Given the description of an element on the screen output the (x, y) to click on. 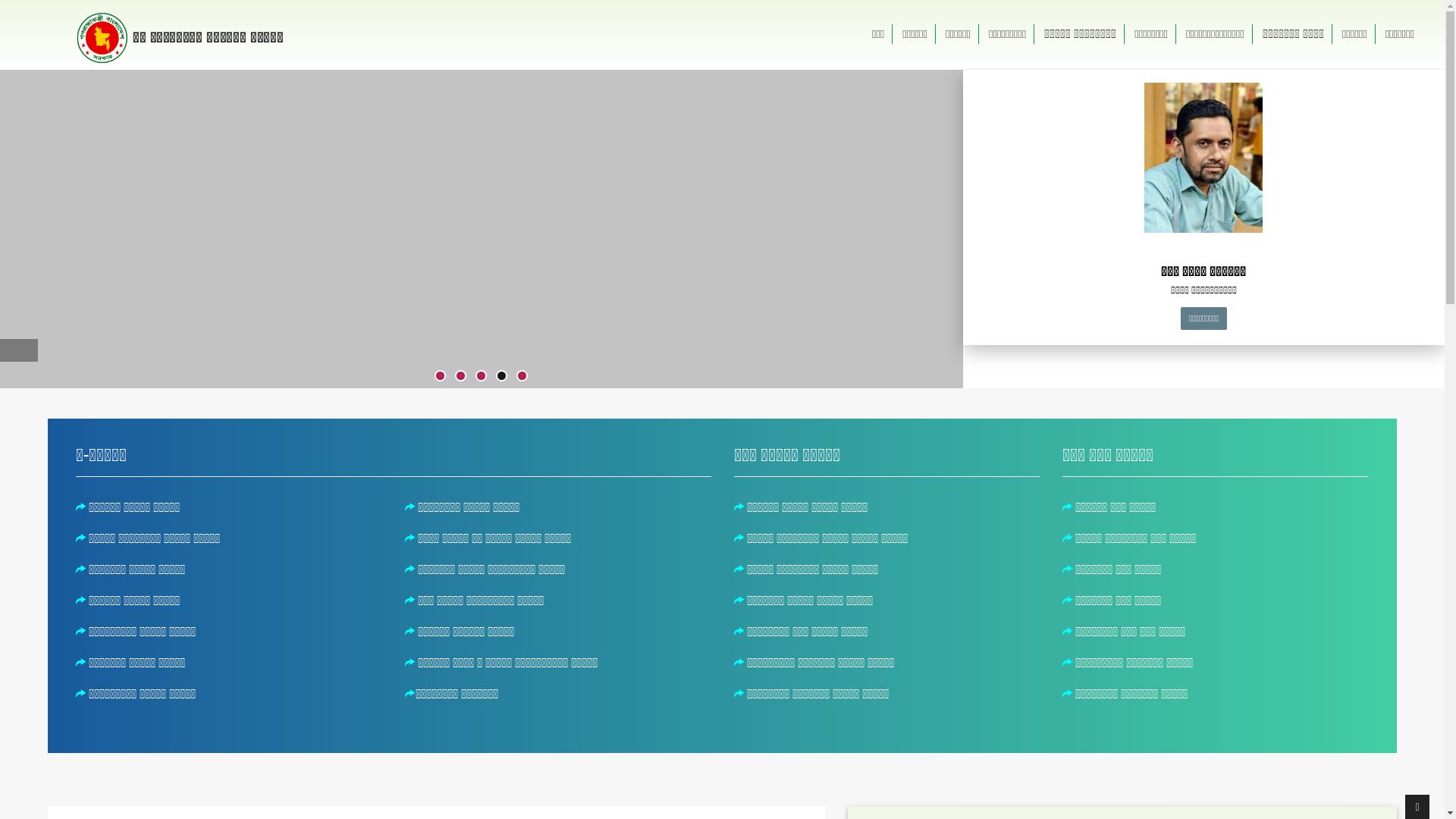
2 Element type: text (460, 375)
1 Element type: text (440, 375)
3 Element type: text (480, 375)
5 Element type: text (521, 375)
4 Element type: text (501, 375)
